Given the description of an element on the screen output the (x, y) to click on. 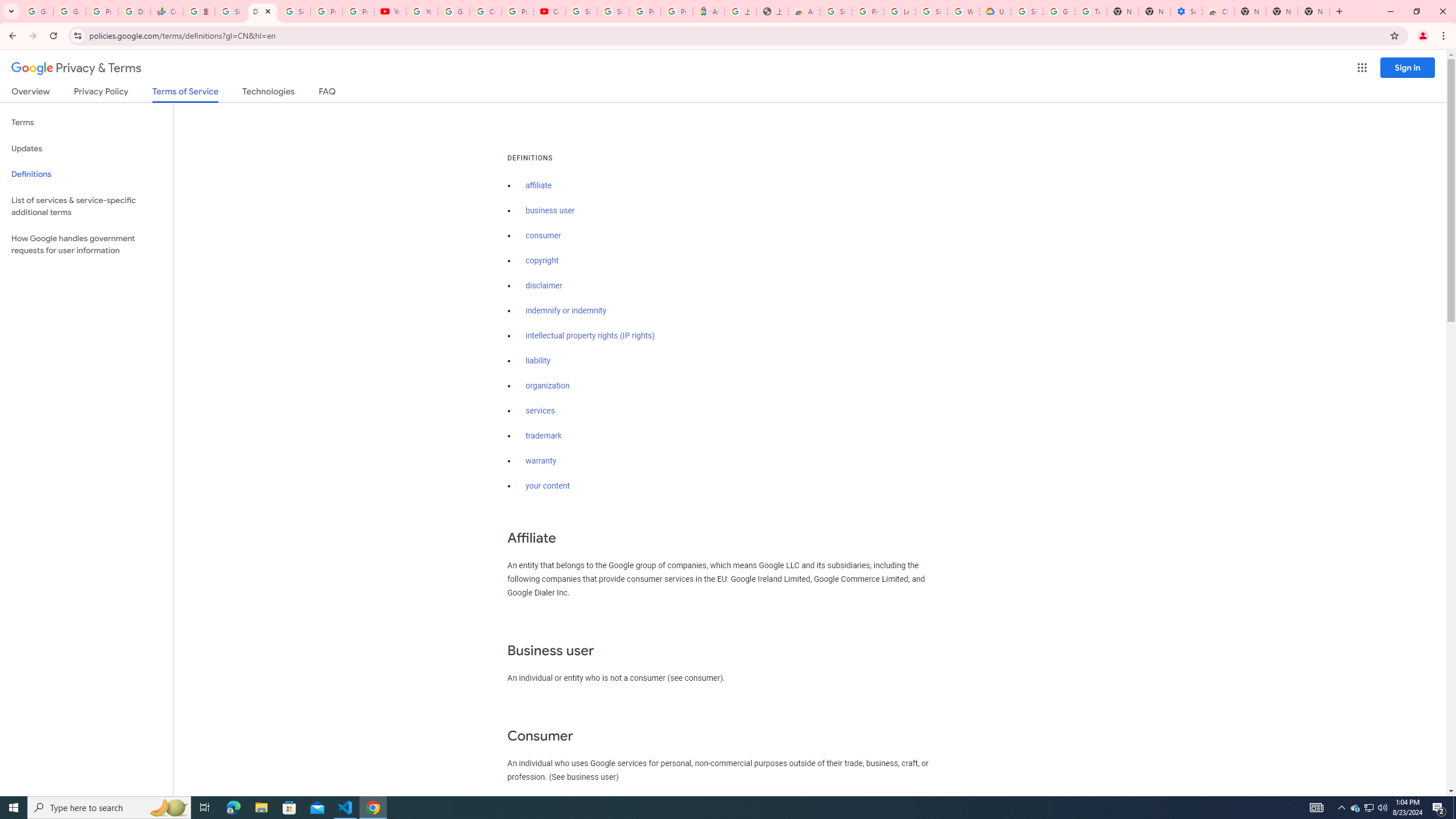
YouTube (389, 11)
Sign in - Google Accounts (613, 11)
warranty (540, 461)
services (539, 411)
Currencies - Google Finance (166, 11)
New Tab (1313, 11)
Sign in - Google Accounts (1027, 11)
